Given the description of an element on the screen output the (x, y) to click on. 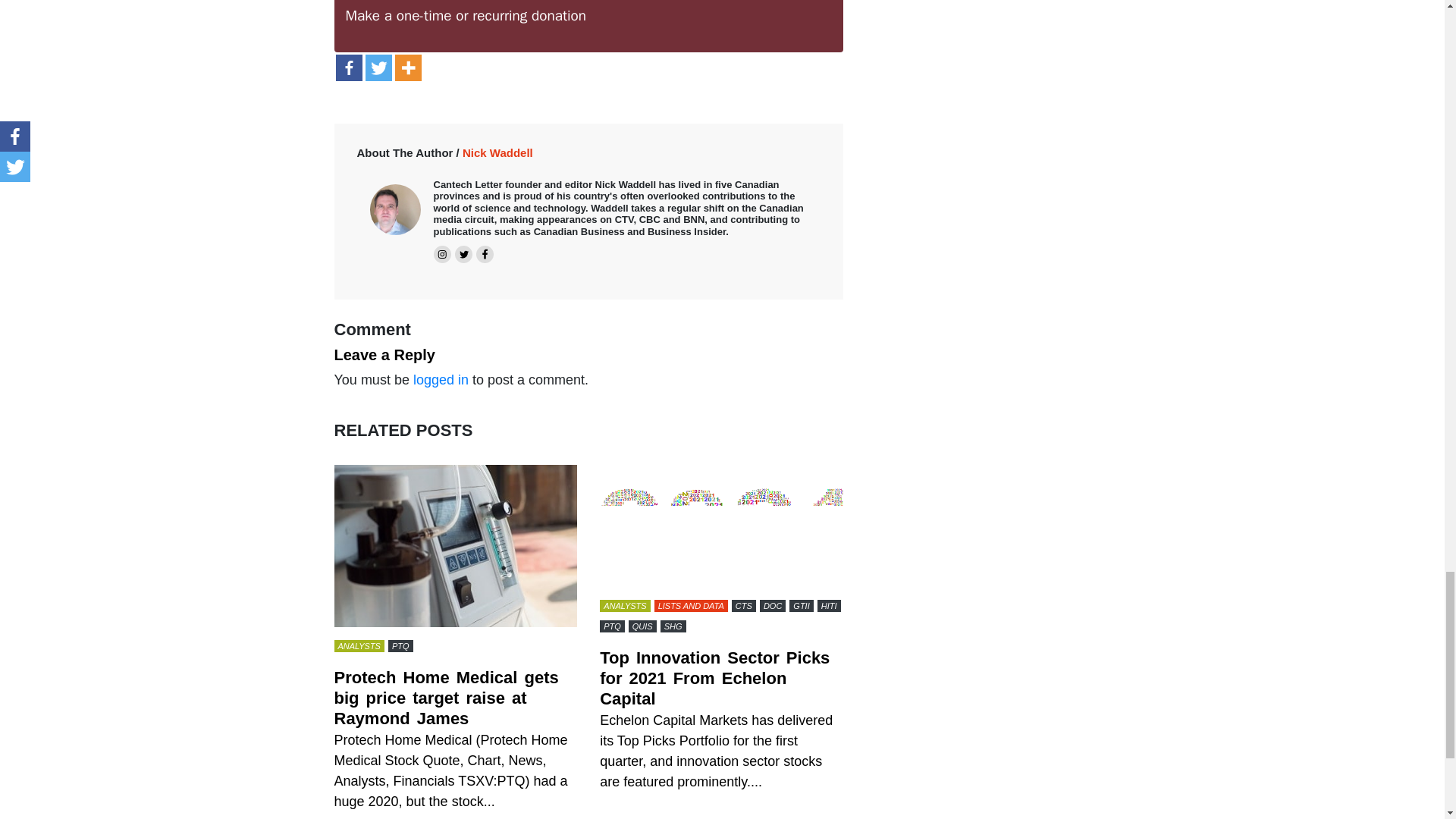
Facebook (347, 67)
Twitter (378, 67)
More (407, 67)
